Given the description of an element on the screen output the (x, y) to click on. 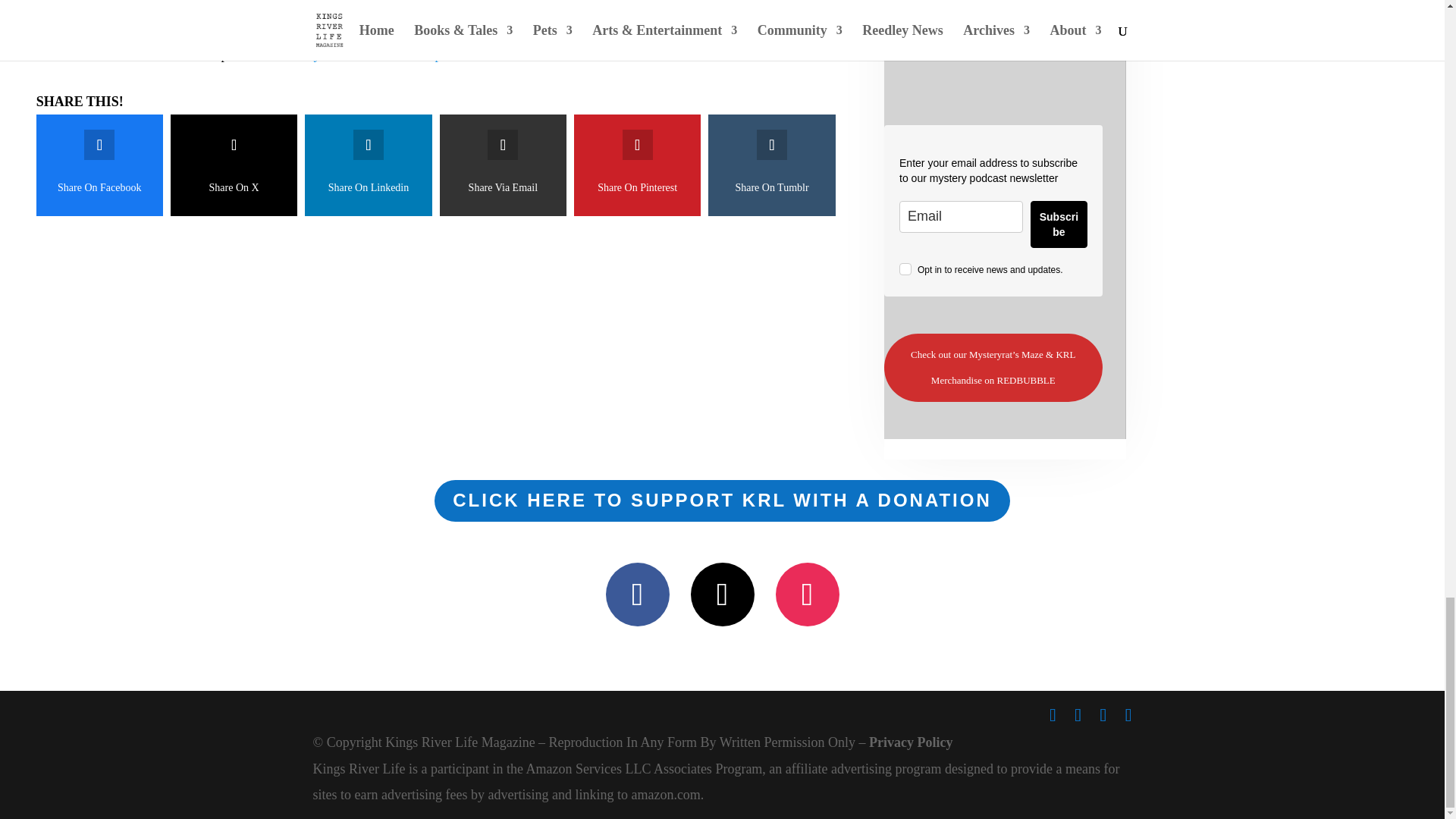
Follow on X (722, 594)
Subscribe now! (992, 43)
Follow on Facebook (636, 594)
Follow on Instagram (806, 594)
